Given the description of an element on the screen output the (x, y) to click on. 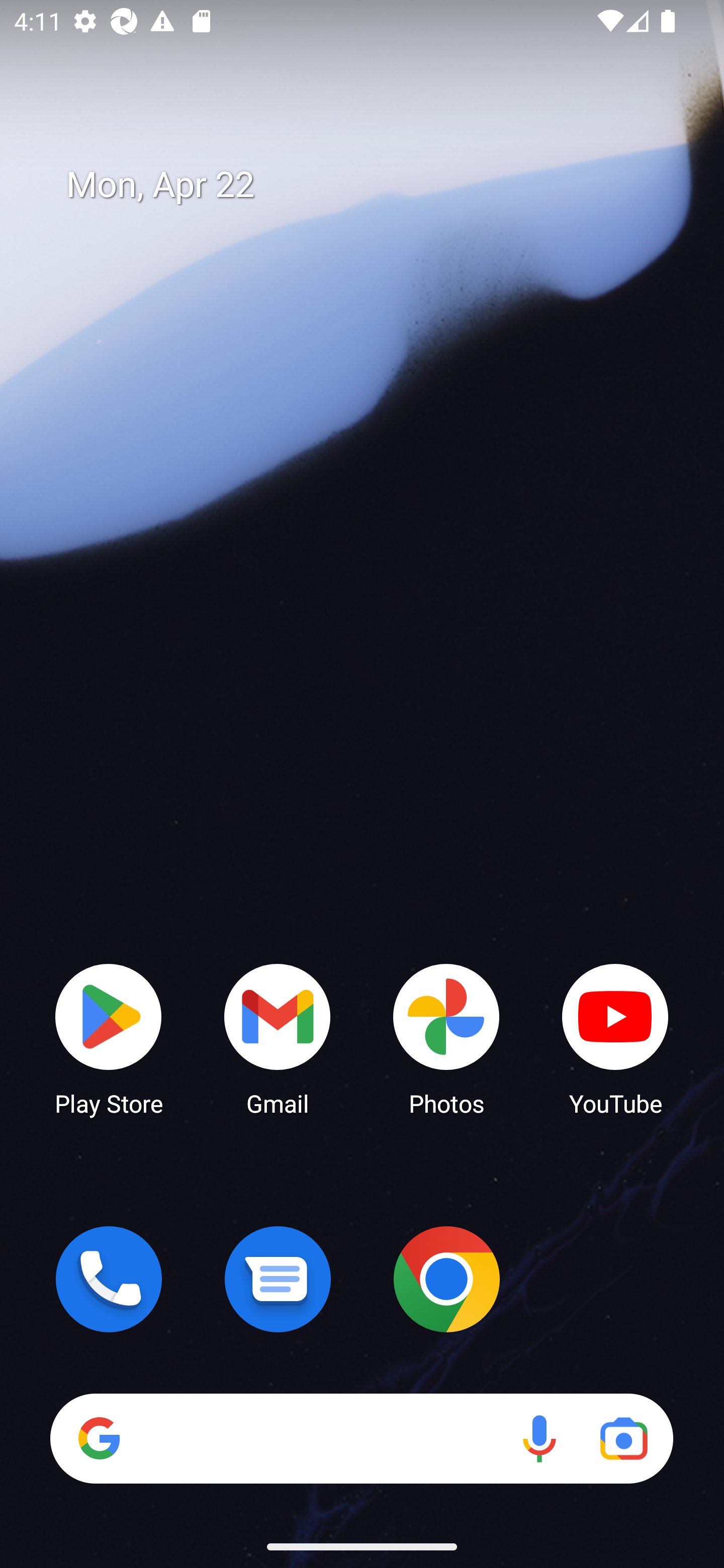
Mon, Apr 22 (375, 184)
Play Store (108, 1038)
Gmail (277, 1038)
Photos (445, 1038)
YouTube (615, 1038)
Phone (108, 1279)
Messages (277, 1279)
Chrome (446, 1279)
Search Voice search Google Lens (361, 1438)
Voice search (539, 1438)
Google Lens (623, 1438)
